Given the description of an element on the screen output the (x, y) to click on. 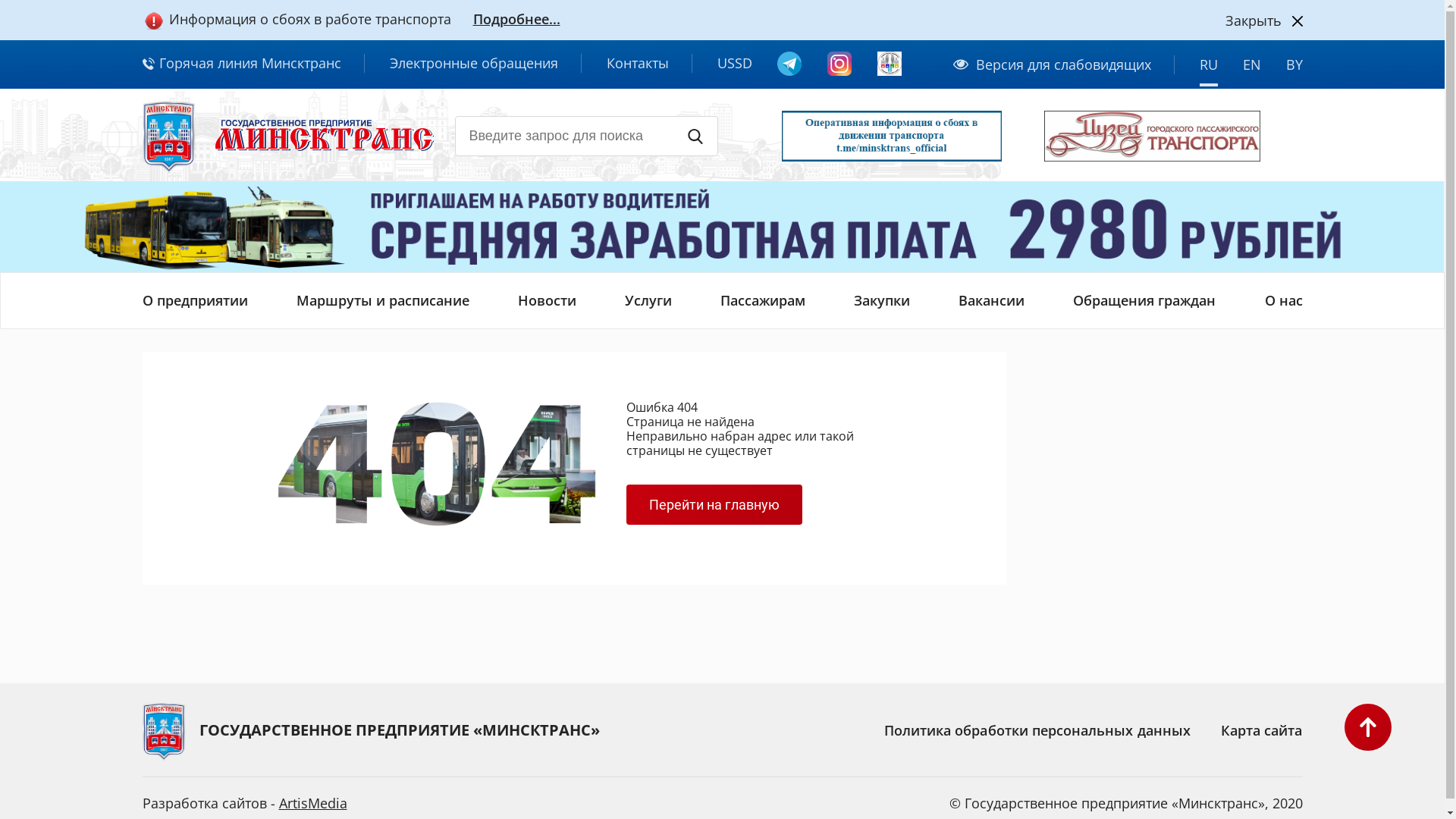
:-( Element type: hover (436, 464)
RU Element type: text (1208, 69)
BY Element type: text (1294, 69)
ArtisMedia Element type: text (313, 802)
EN Element type: text (1251, 69)
USSD Element type: text (734, 62)
